Given the description of an element on the screen output the (x, y) to click on. 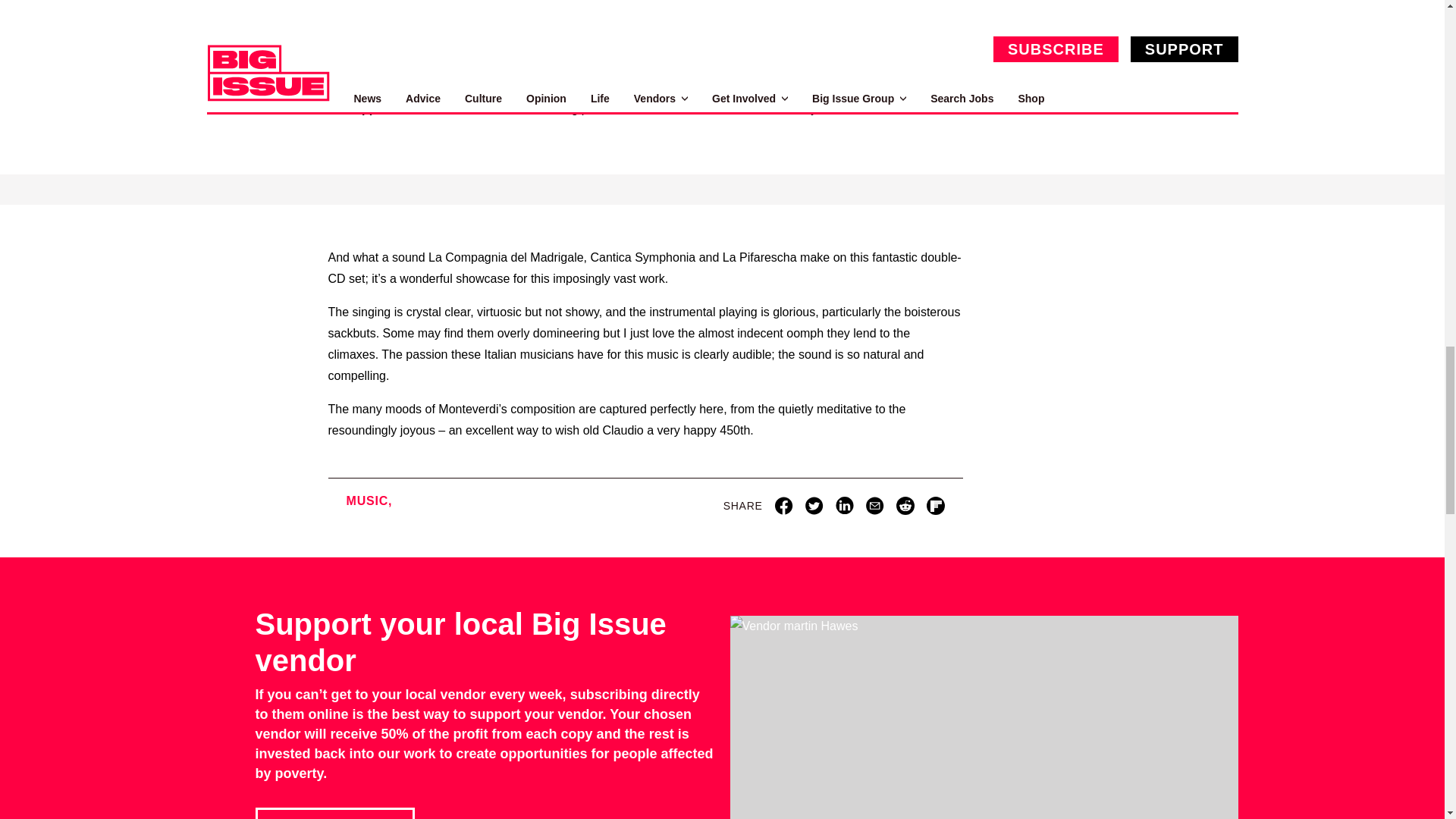
FIND MY VENDOR (333, 813)
